Given the description of an element on the screen output the (x, y) to click on. 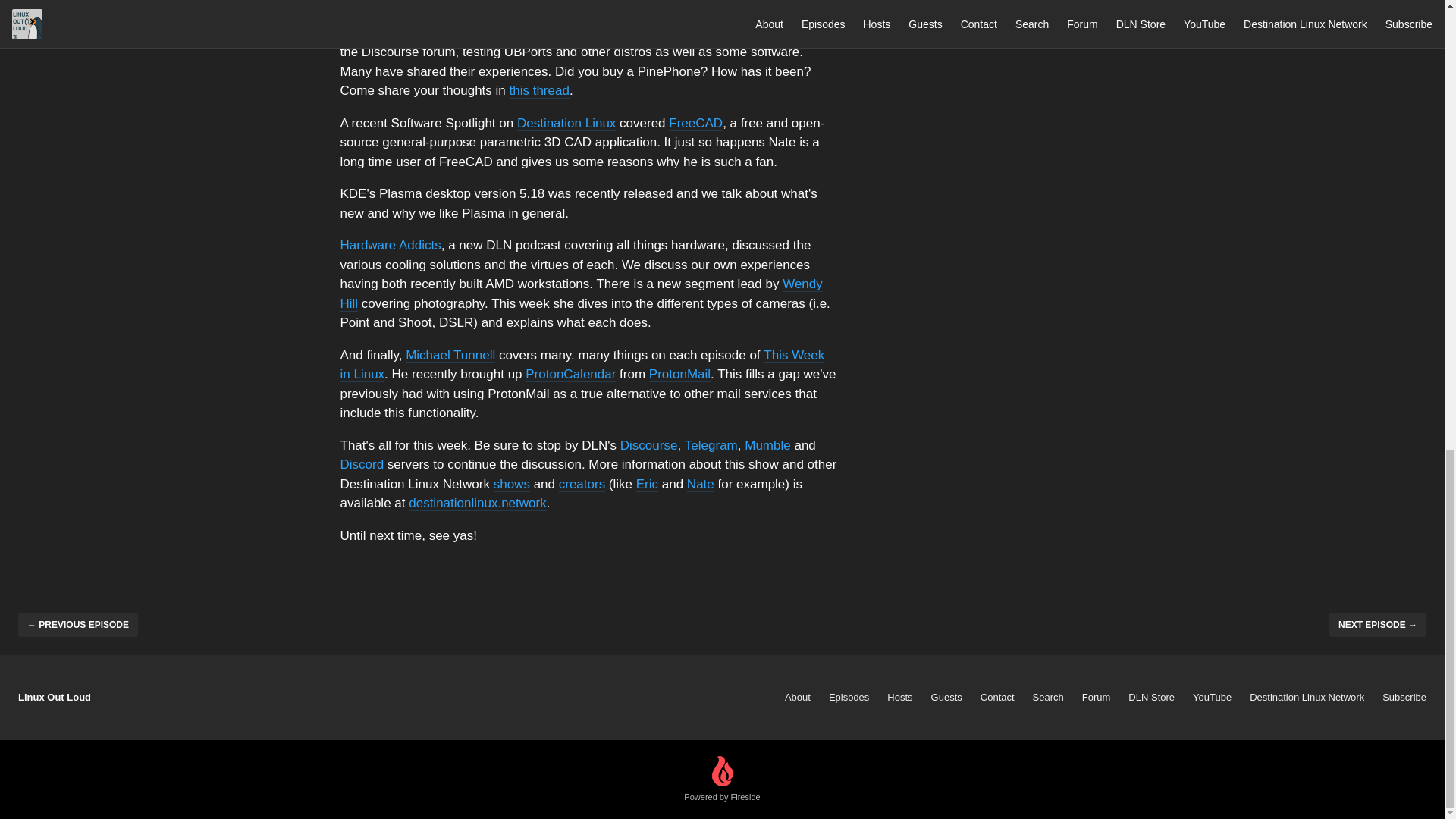
Powered by Fireside (722, 779)
